Given the description of an element on the screen output the (x, y) to click on. 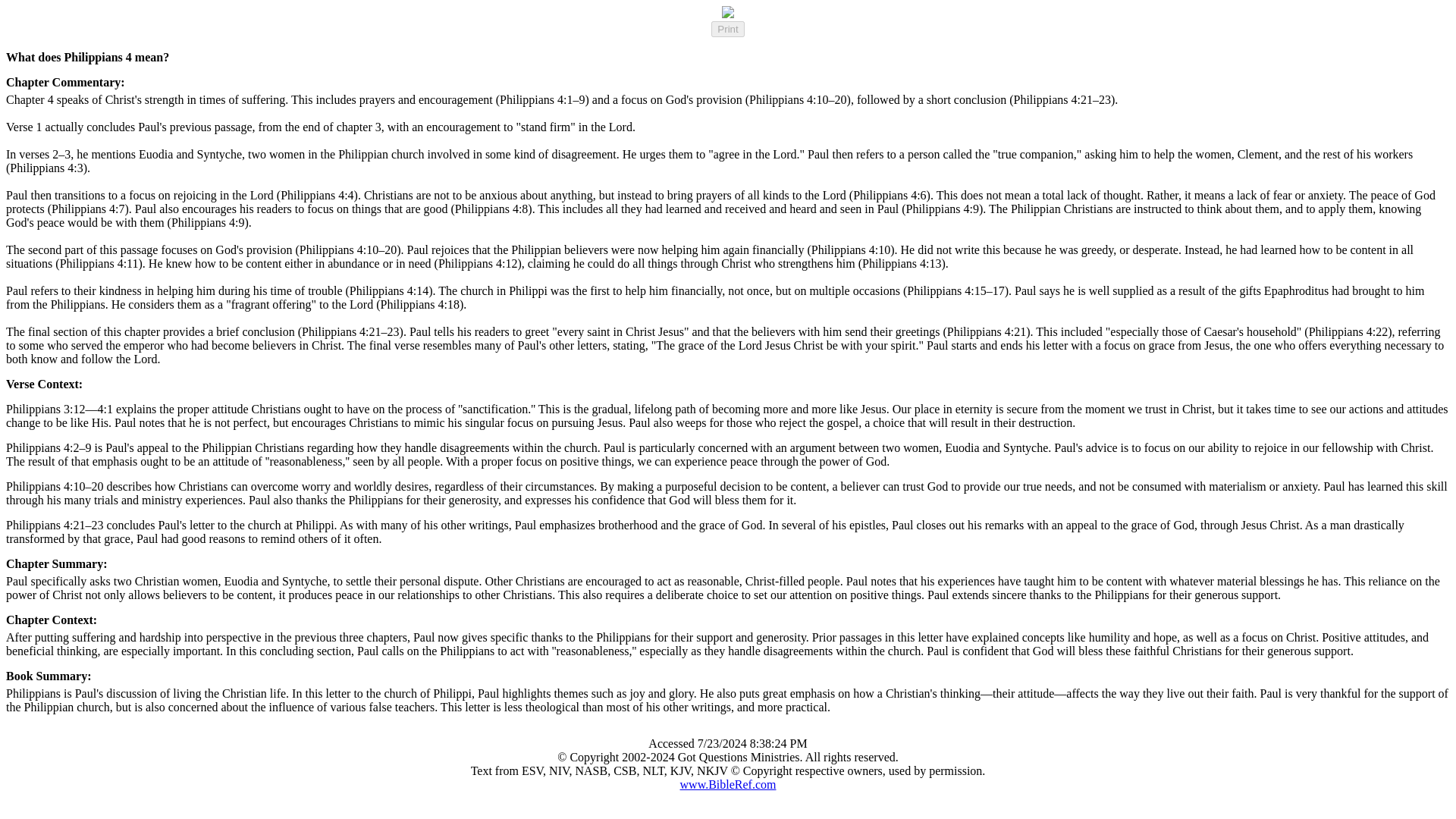
Print (727, 28)
